Given the description of an element on the screen output the (x, y) to click on. 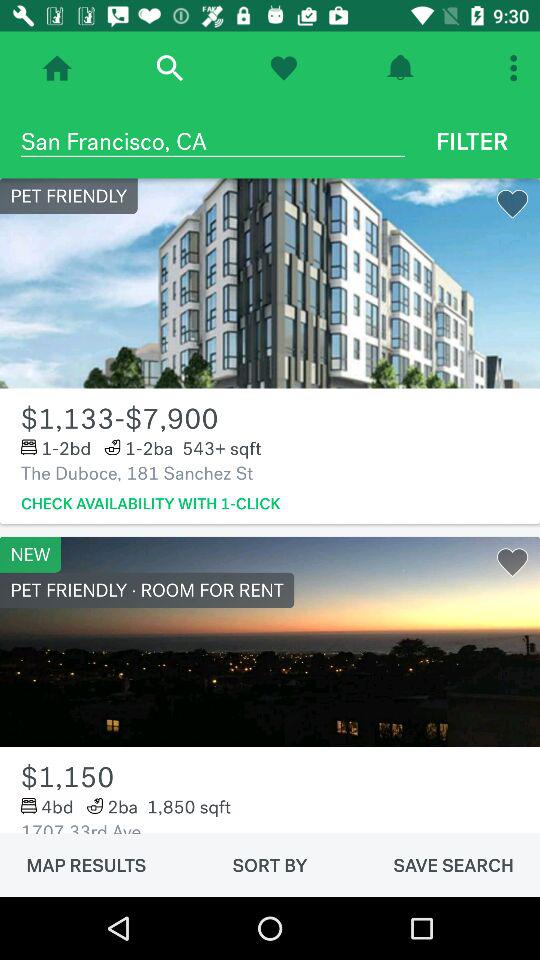
turn on the icon next to the save search item (269, 865)
